Given the description of an element on the screen output the (x, y) to click on. 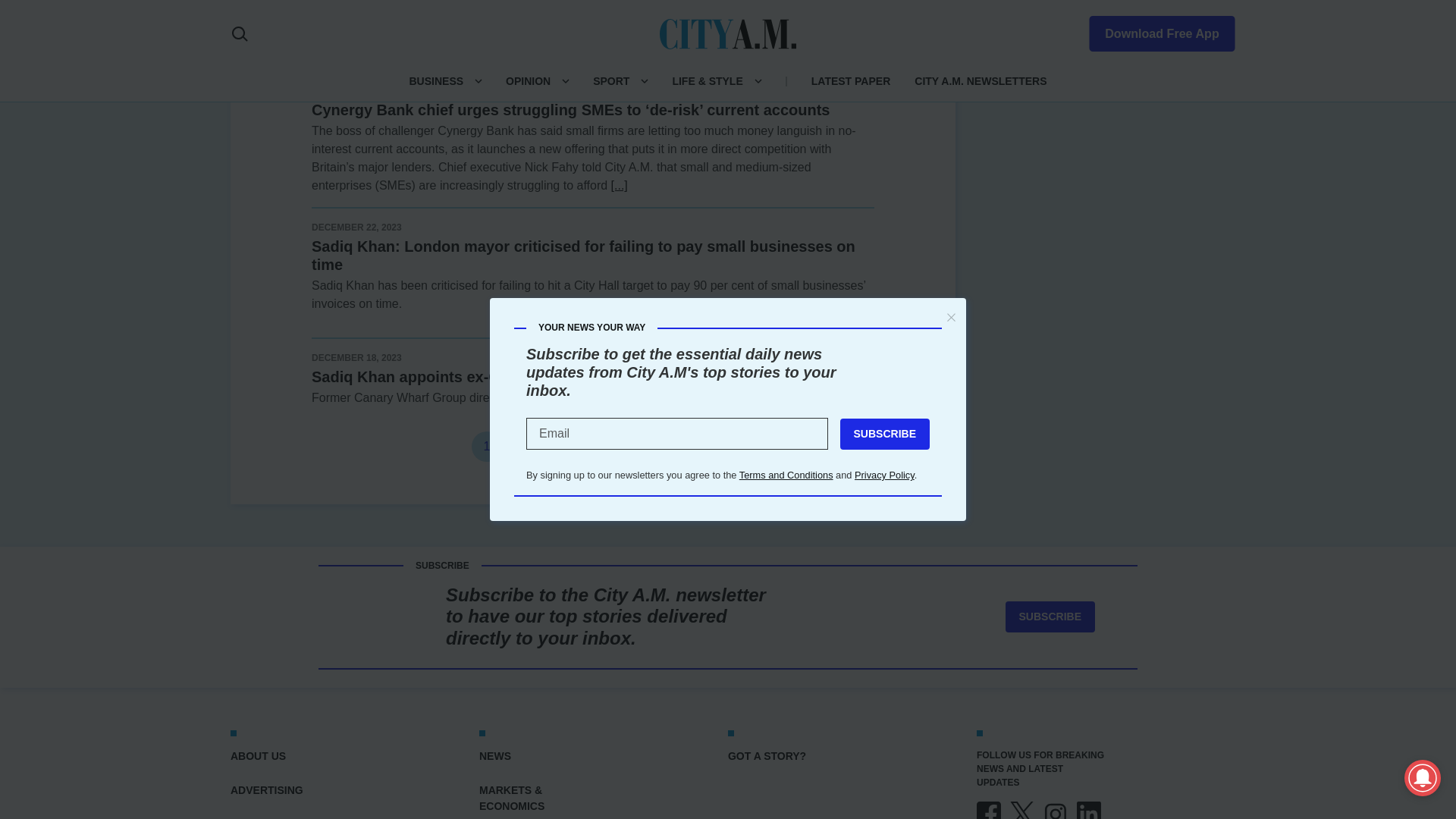
X (1021, 810)
INSTAGRAM (1055, 810)
LINKEDIN (1088, 810)
FACEBOOK (988, 810)
